Given the description of an element on the screen output the (x, y) to click on. 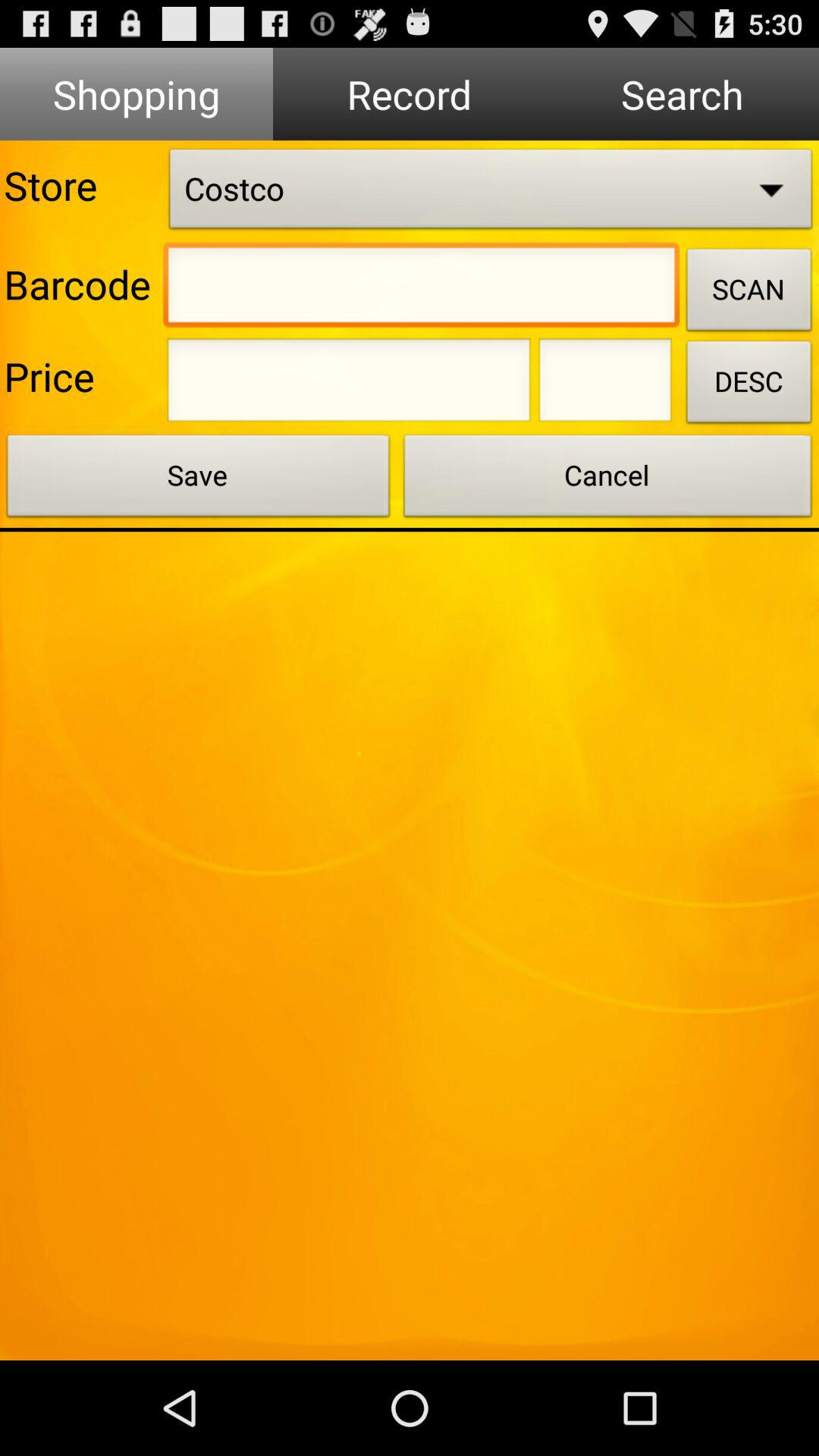
click on field costco (490, 192)
click on field left next to price (348, 384)
select the cancel button (608, 480)
click on search (682, 93)
